Given the description of an element on the screen output the (x, y) to click on. 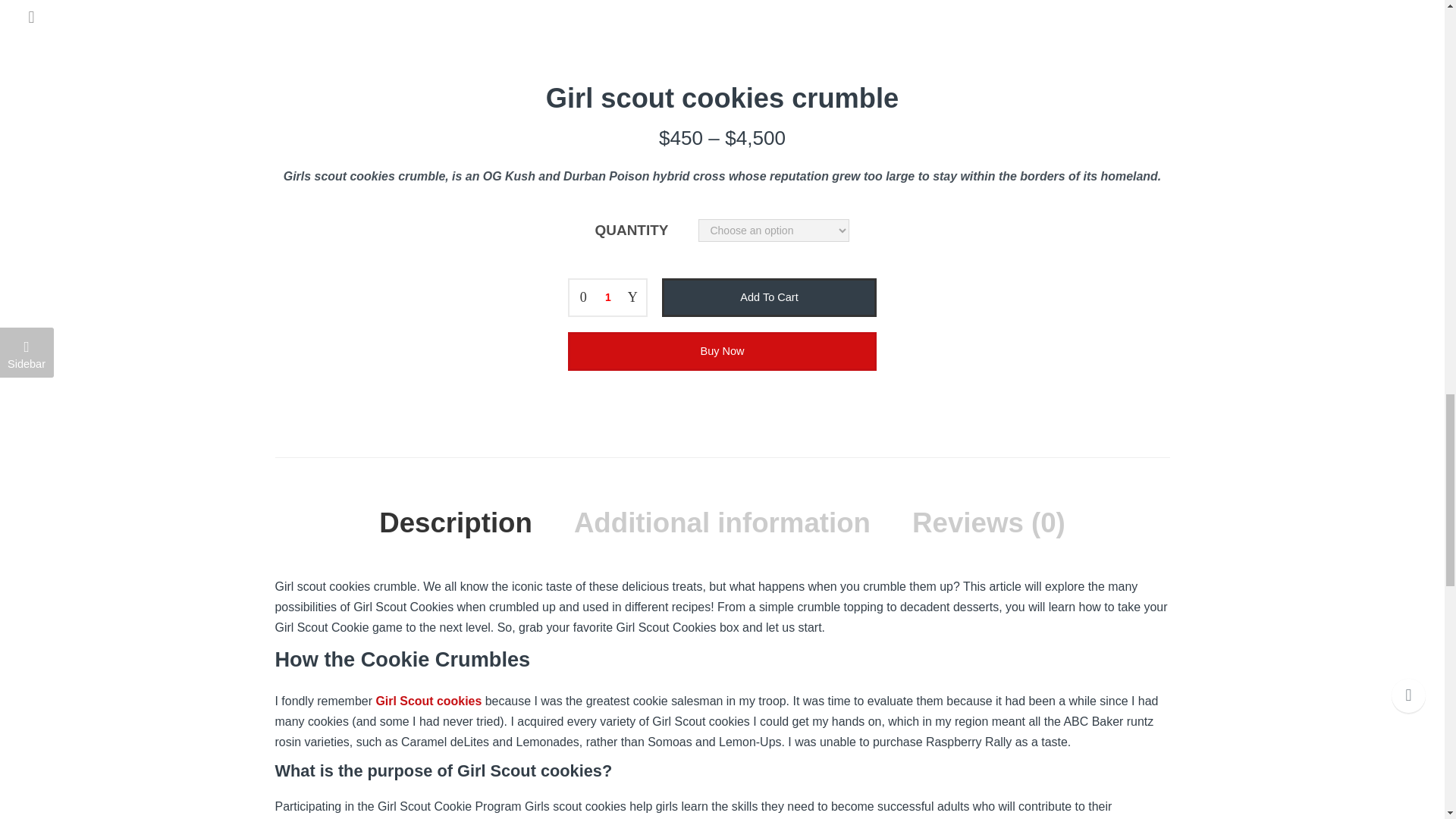
1 (607, 297)
